Given the description of an element on the screen output the (x, y) to click on. 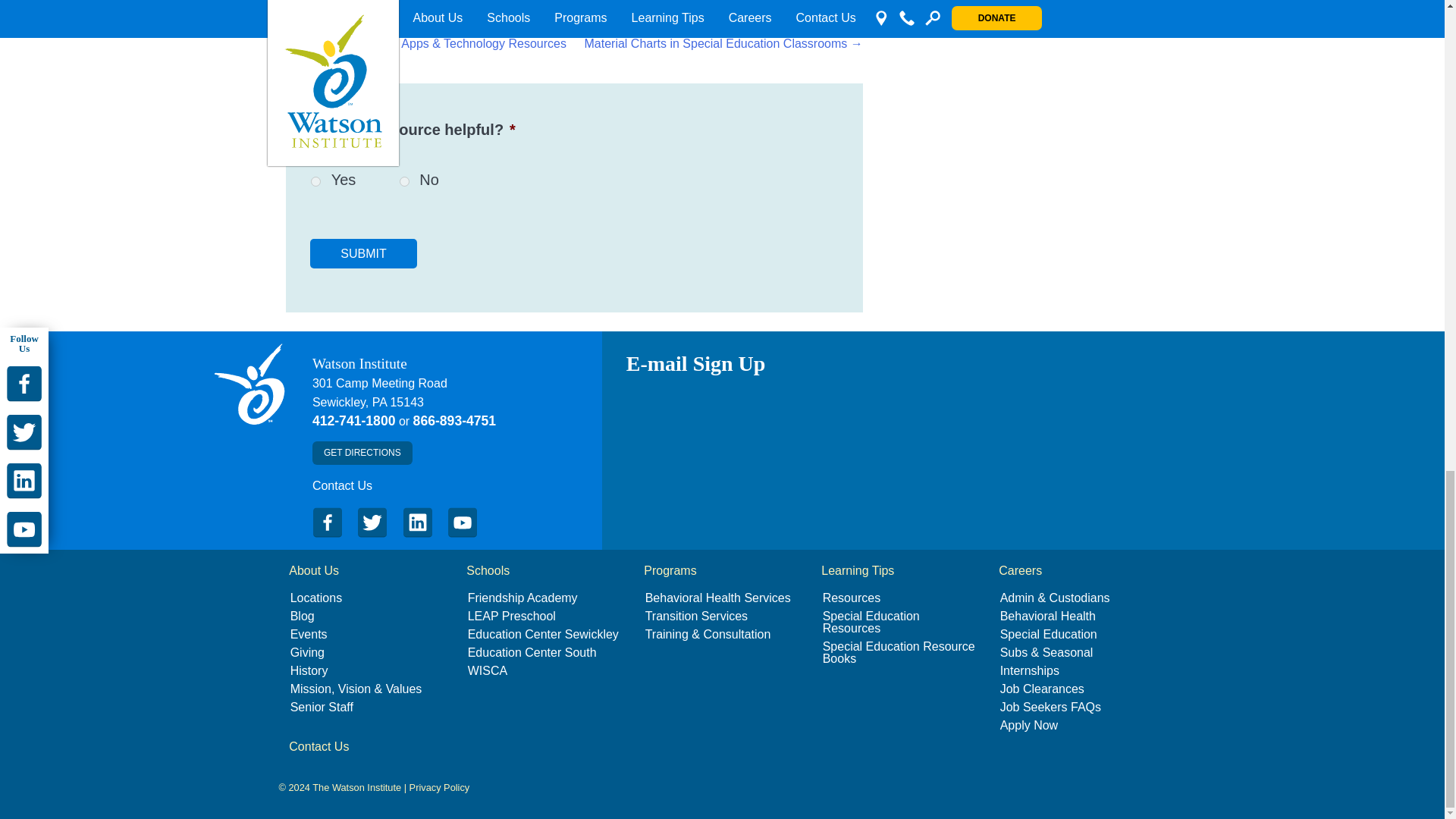
No (403, 181)
Yes (315, 181)
Contact Form (342, 485)
Submit (363, 253)
